Given the description of an element on the screen output the (x, y) to click on. 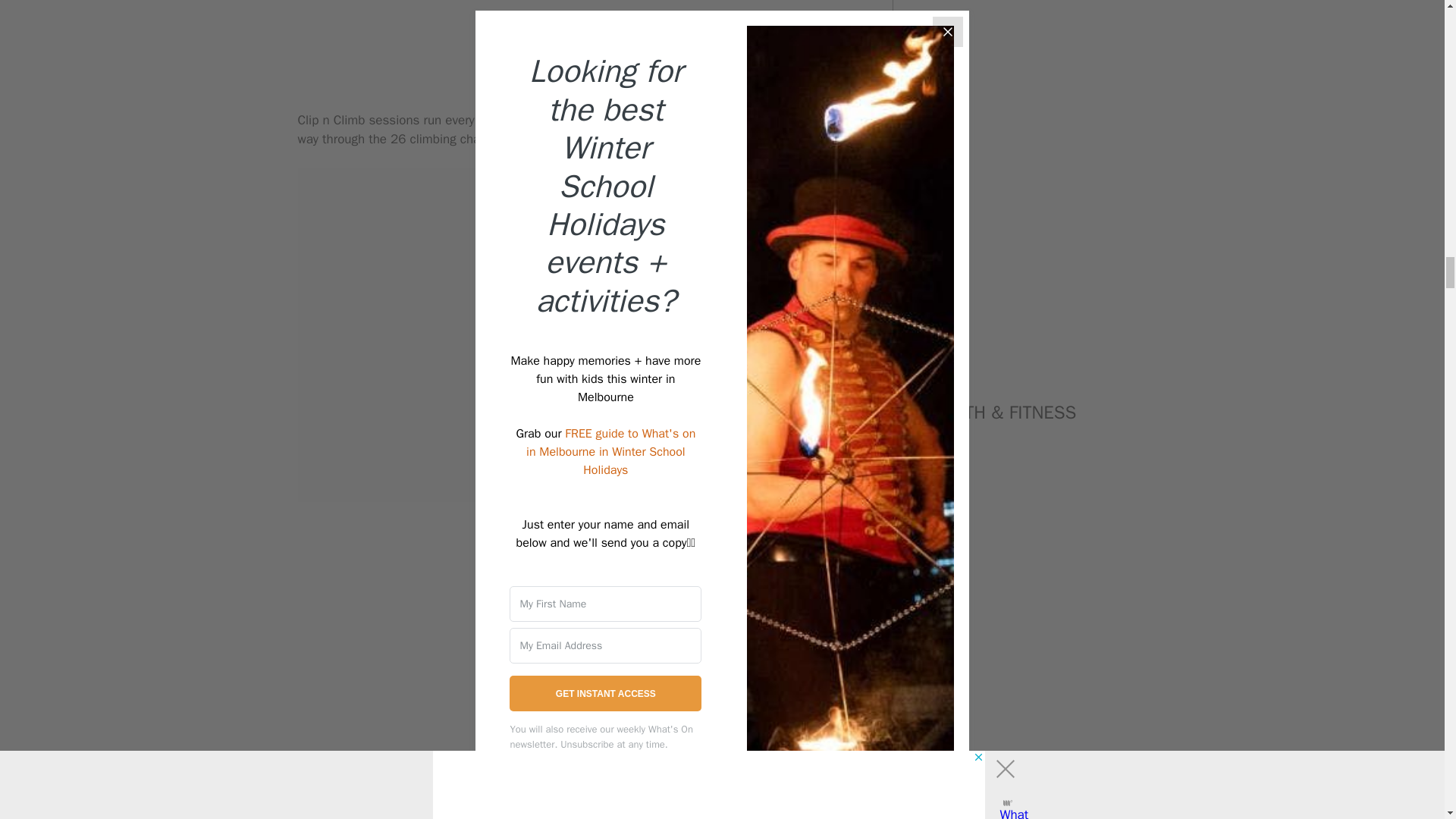
HOT: GoClimb, Coburg 7 (579, 26)
